Given the description of an element on the screen output the (x, y) to click on. 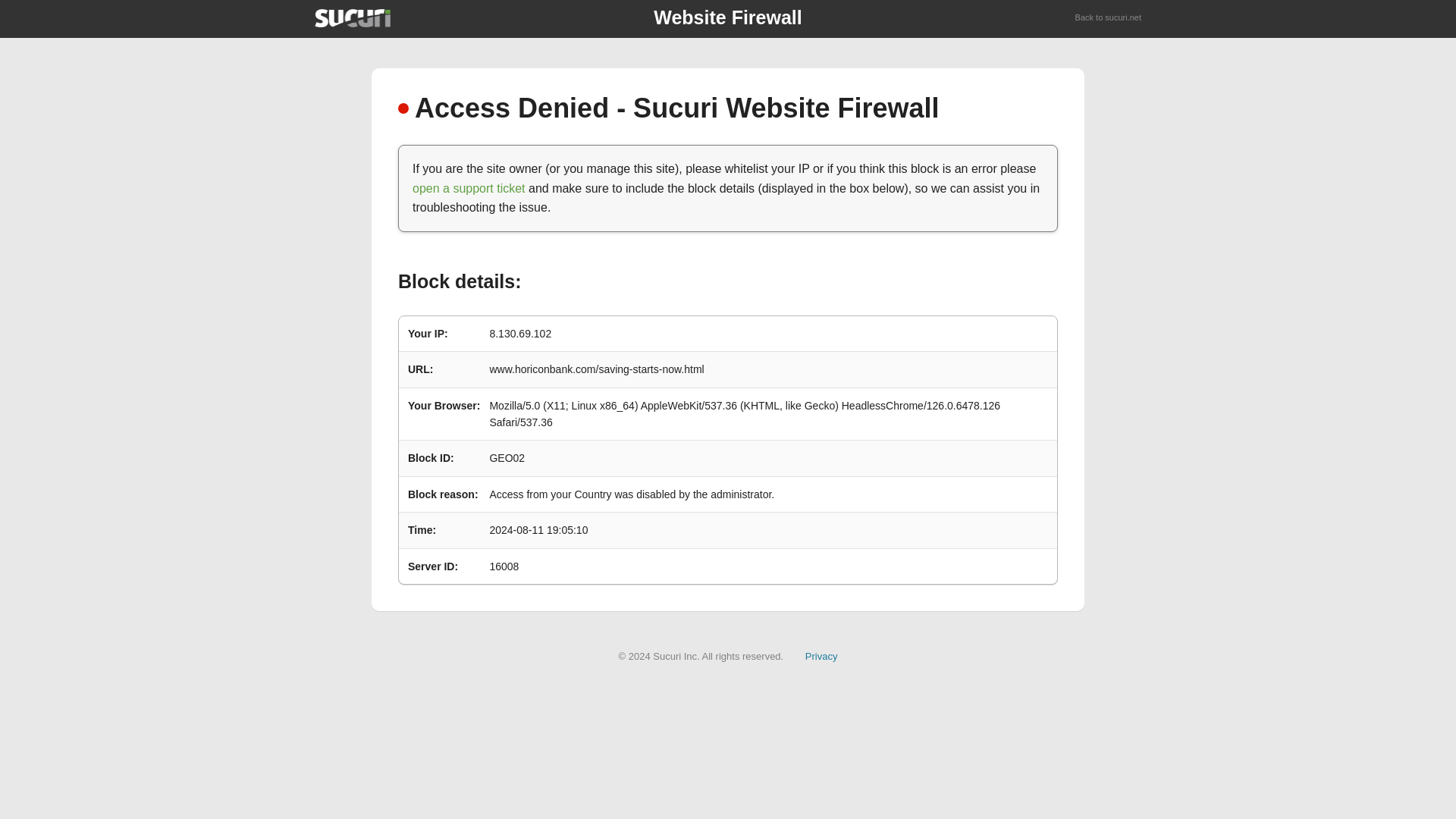
Privacy (821, 655)
Back to sucuri.net (1108, 18)
open a support ticket (468, 187)
